Given the description of an element on the screen output the (x, y) to click on. 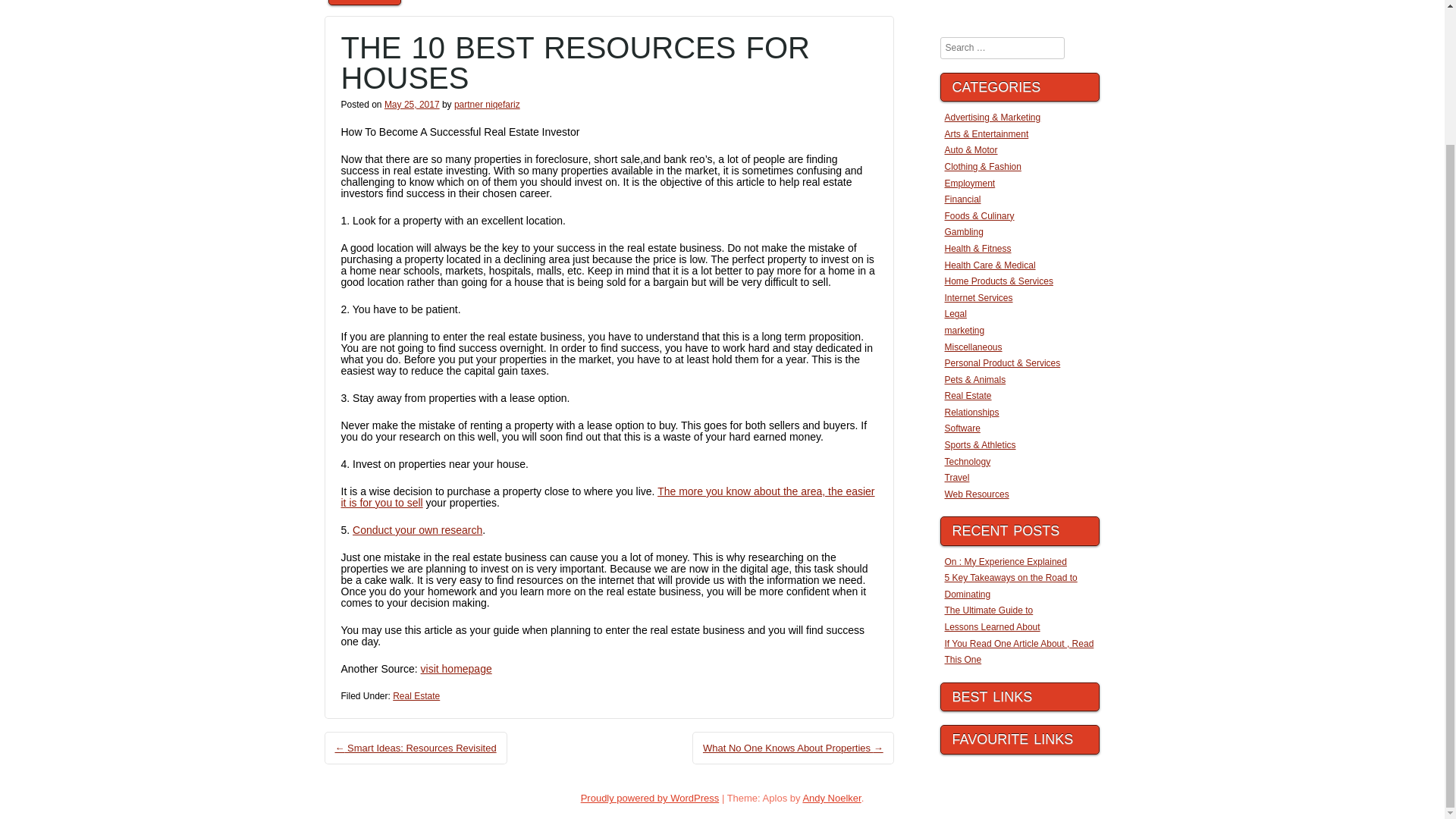
visit homepage (456, 668)
Technology (967, 461)
May 25, 2017 (411, 104)
Software (961, 428)
Internet Services (978, 297)
Web Resources (976, 493)
A Semantic Personal Publishing Platform (649, 797)
Relationships (971, 412)
6:16 am (411, 104)
Conduct your own research (416, 530)
Legal (955, 313)
Travel (956, 477)
Miscellaneous (973, 347)
marketing (964, 330)
